Given the description of an element on the screen output the (x, y) to click on. 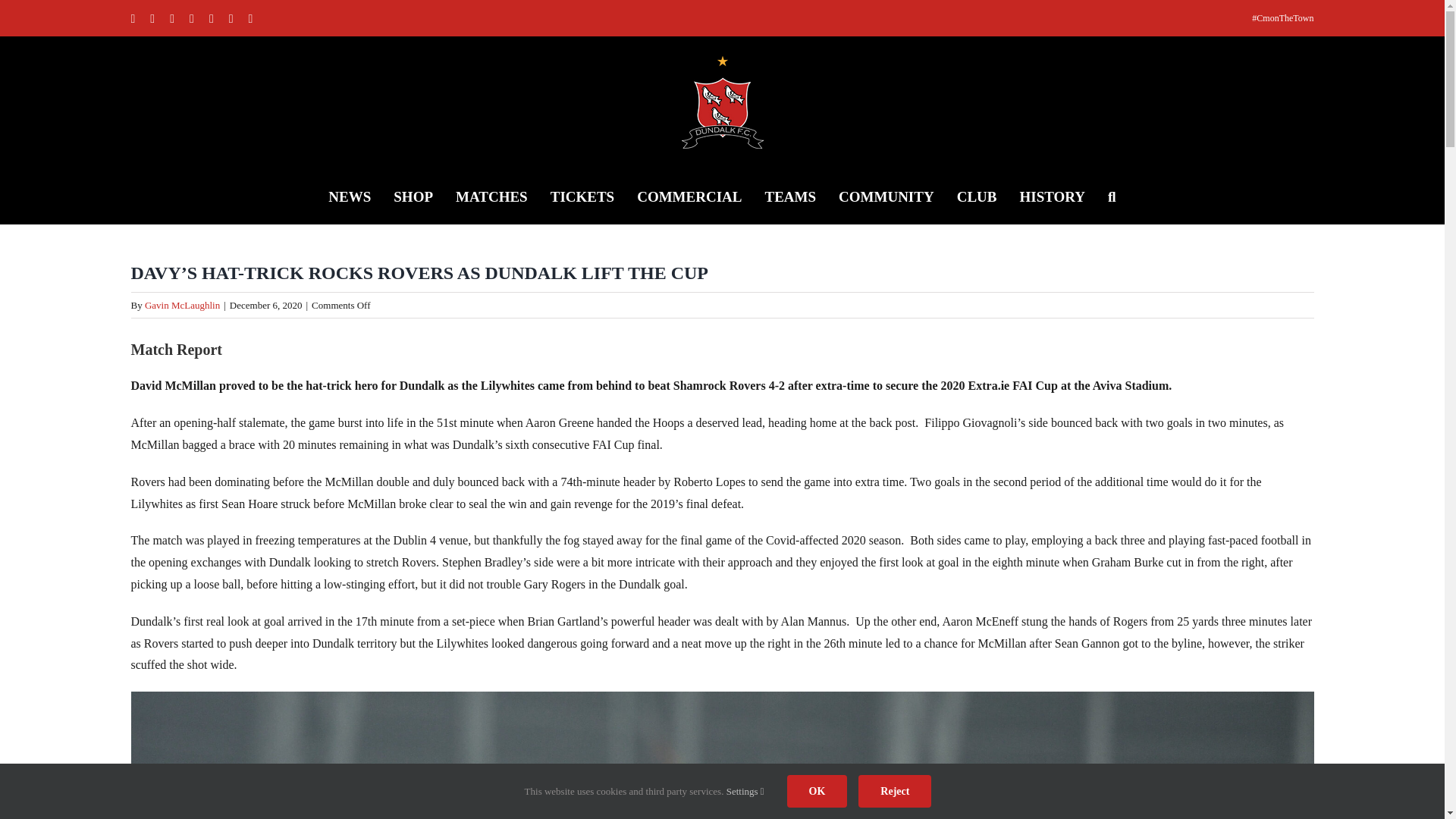
COMMERCIAL (689, 195)
MATCHES (491, 195)
COMMUNITY (886, 195)
TICKETS (582, 195)
TEAMS (789, 195)
Posts by Gavin McLaughlin (181, 305)
